Given the description of an element on the screen output the (x, y) to click on. 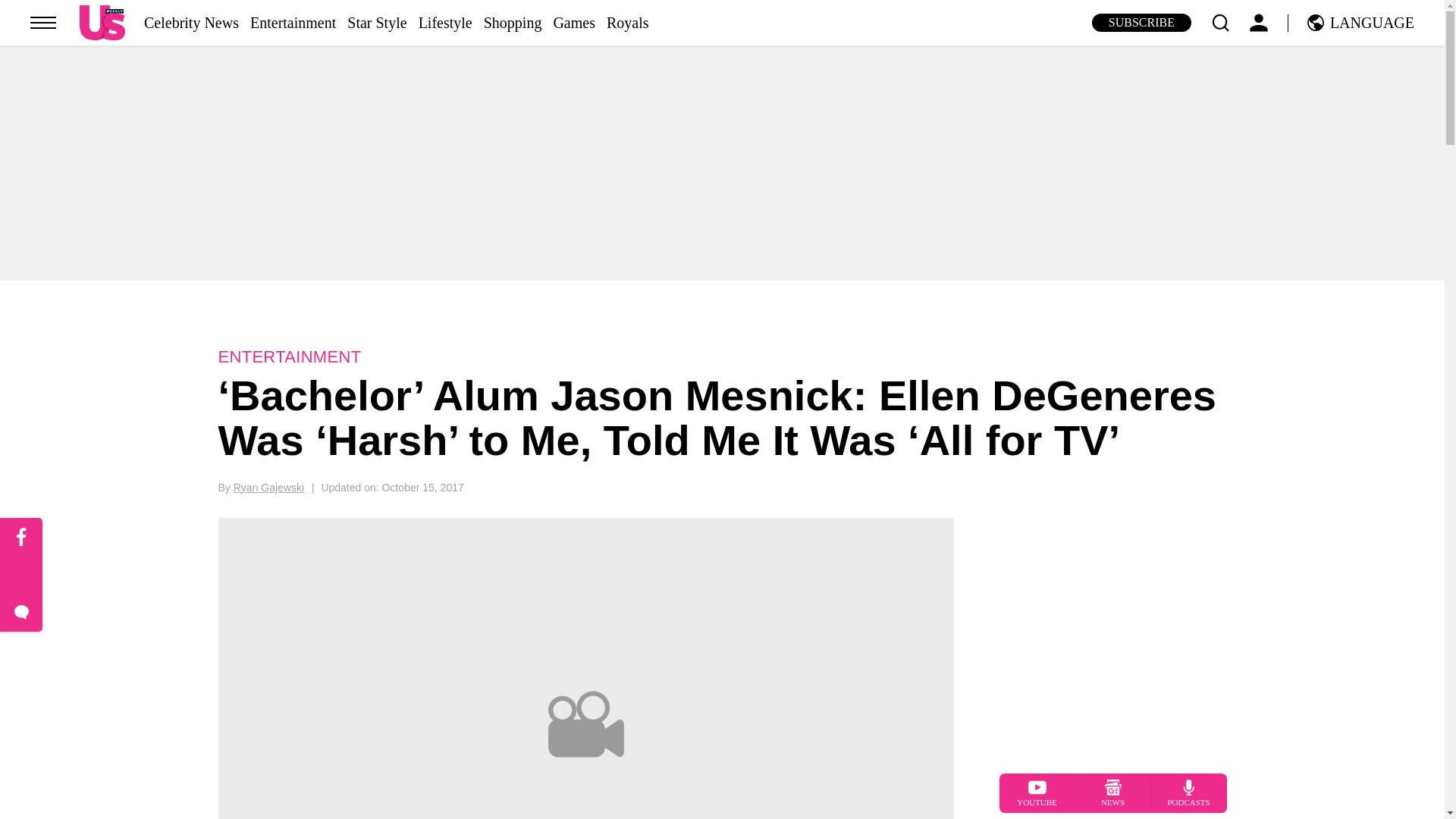
Celebrity News (191, 22)
Posts by Ryan Gajewski (268, 487)
Games (574, 22)
Shopping (512, 22)
Click to share on Twitter (21, 575)
Entertainment (293, 22)
Us Weekly Magazine (102, 22)
Lifestyle (445, 22)
Star Style (376, 22)
Click to share on Facebook (21, 537)
